Given the description of an element on the screen output the (x, y) to click on. 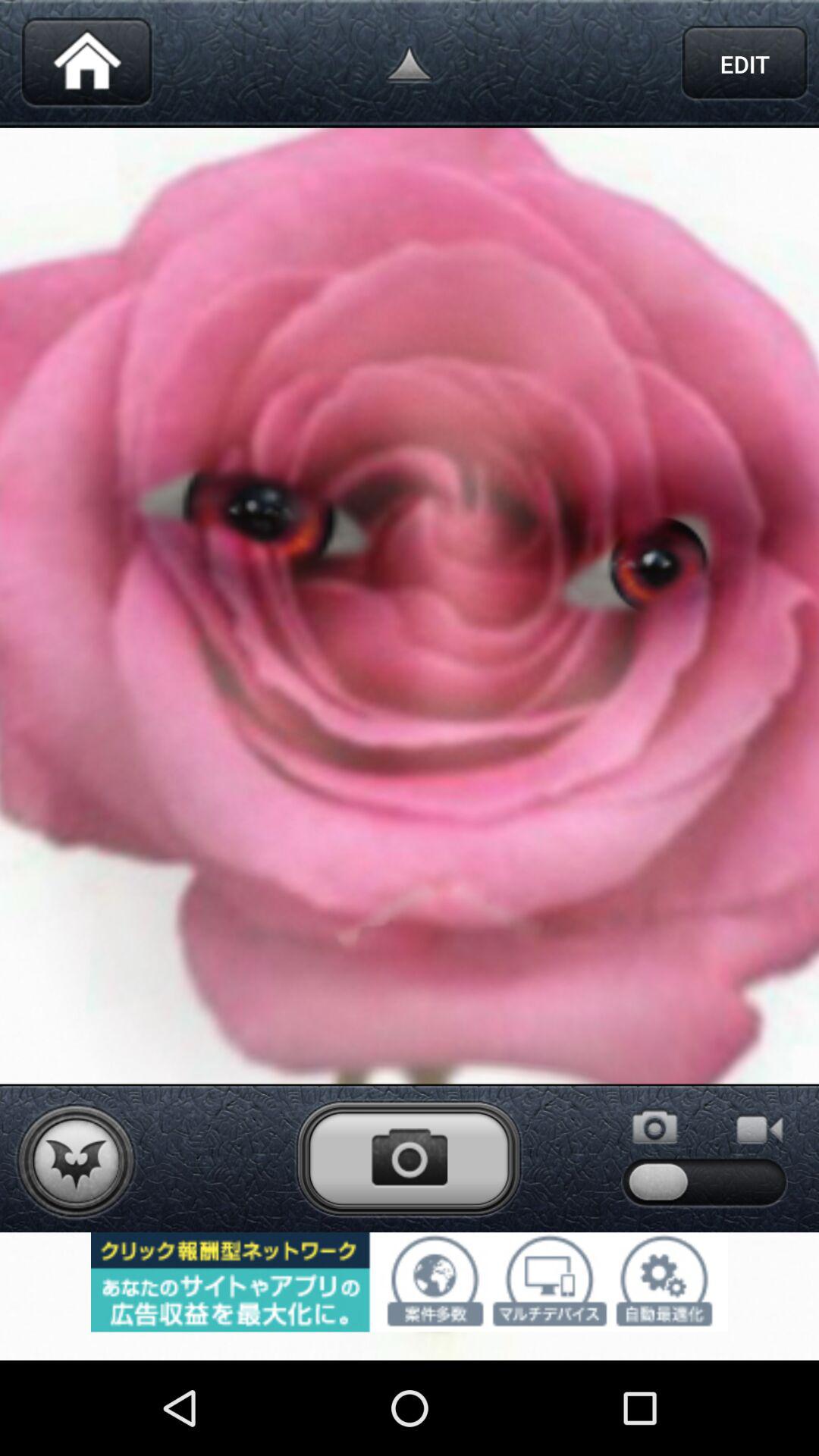
open camera (409, 1157)
